Given the description of an element on the screen output the (x, y) to click on. 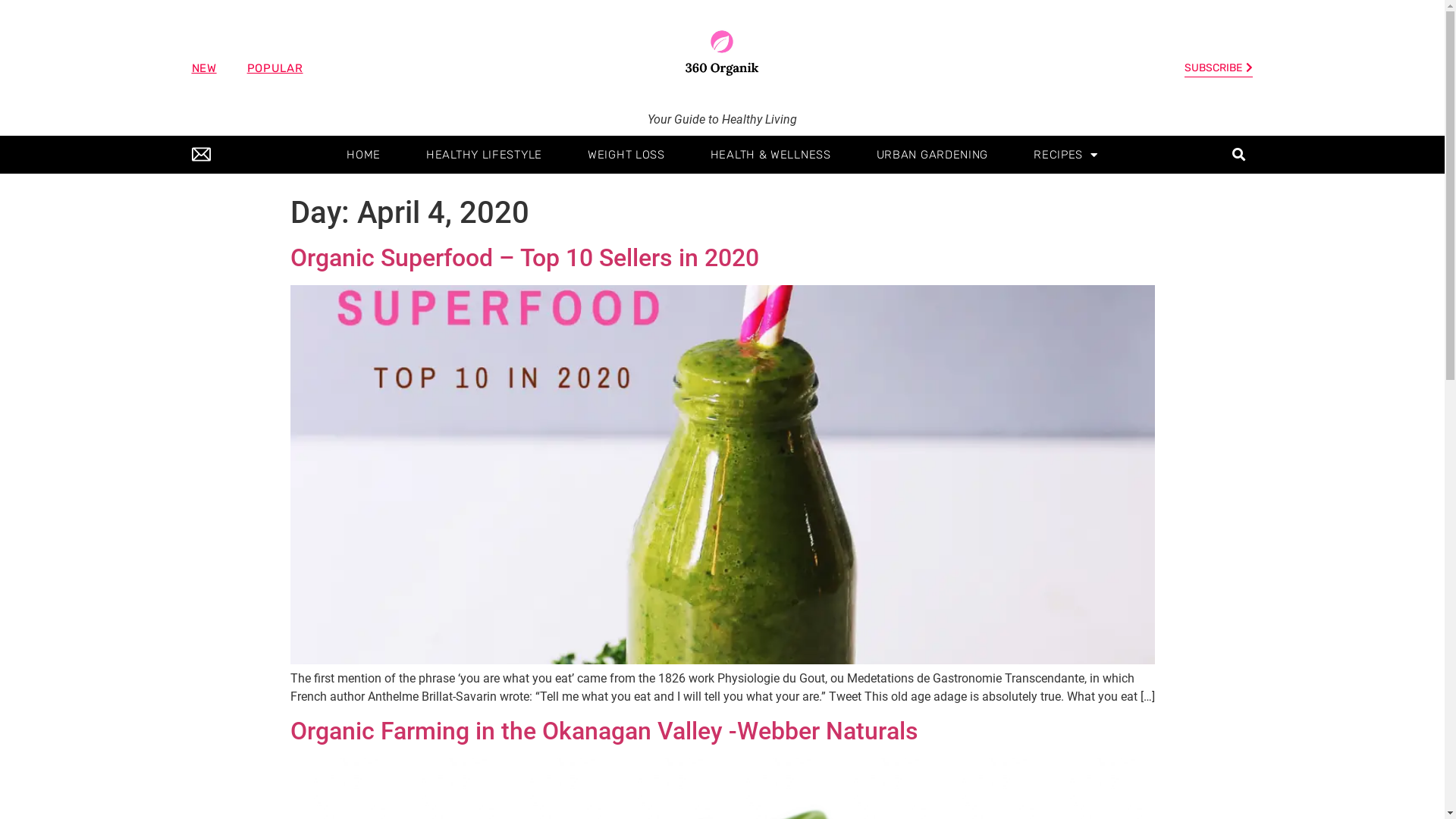
HEALTH & WELLNESS Element type: text (770, 154)
HOME Element type: text (363, 154)
WEIGHT LOSS Element type: text (626, 154)
URBAN GARDENING Element type: text (932, 154)
HEALTHY LIFESTYLE Element type: text (484, 154)
RECIPES Element type: text (1065, 154)
POPULAR Element type: text (275, 67)
NEW Element type: text (203, 67)
Organic Farming in the Okanagan Valley -Webber Naturals Element type: text (603, 730)
SUBSCRIBE Element type: text (1218, 68)
